Given the description of an element on the screen output the (x, y) to click on. 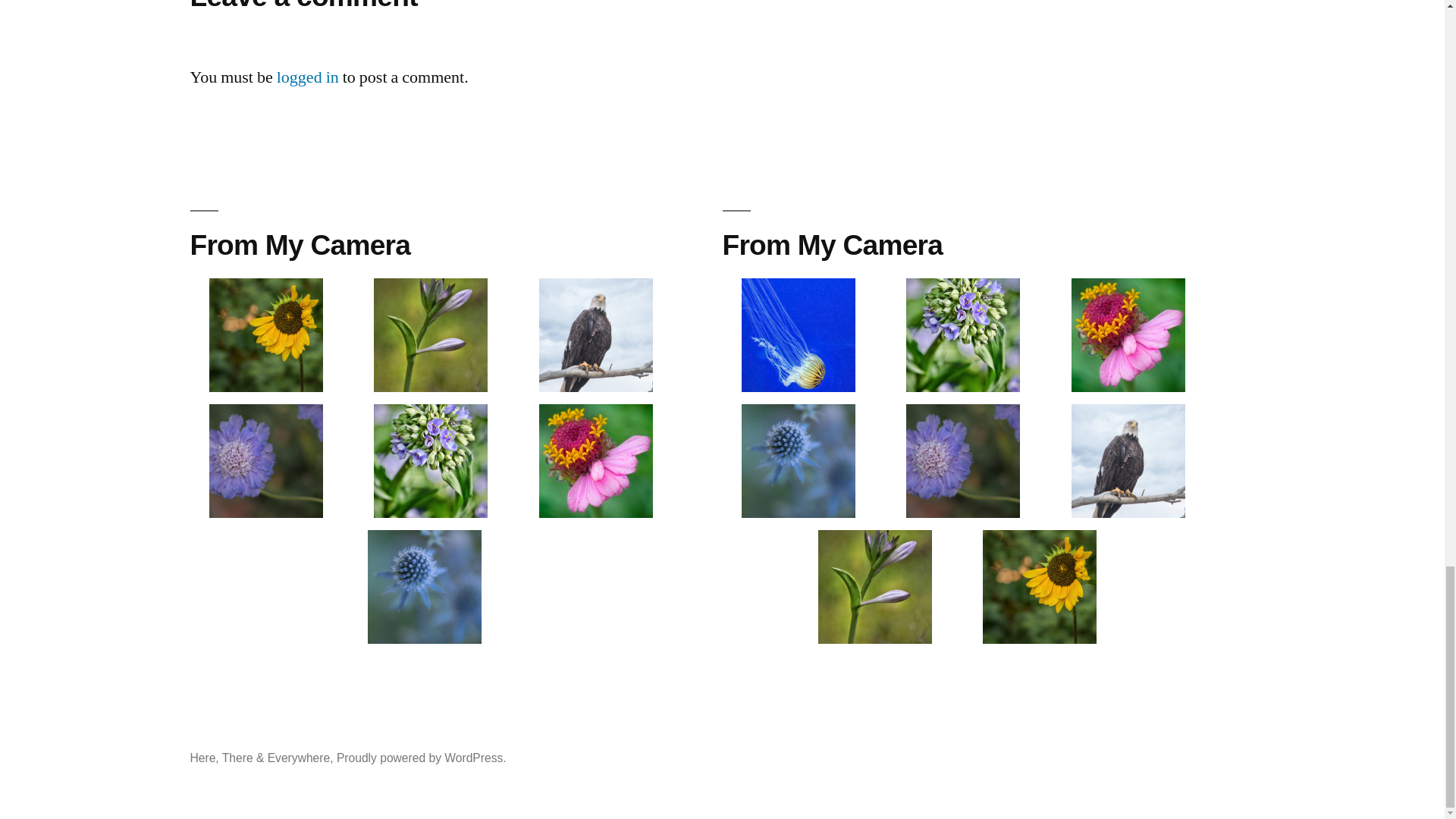
logged in (307, 76)
Proudly powered by WordPress. (421, 757)
